Given the description of an element on the screen output the (x, y) to click on. 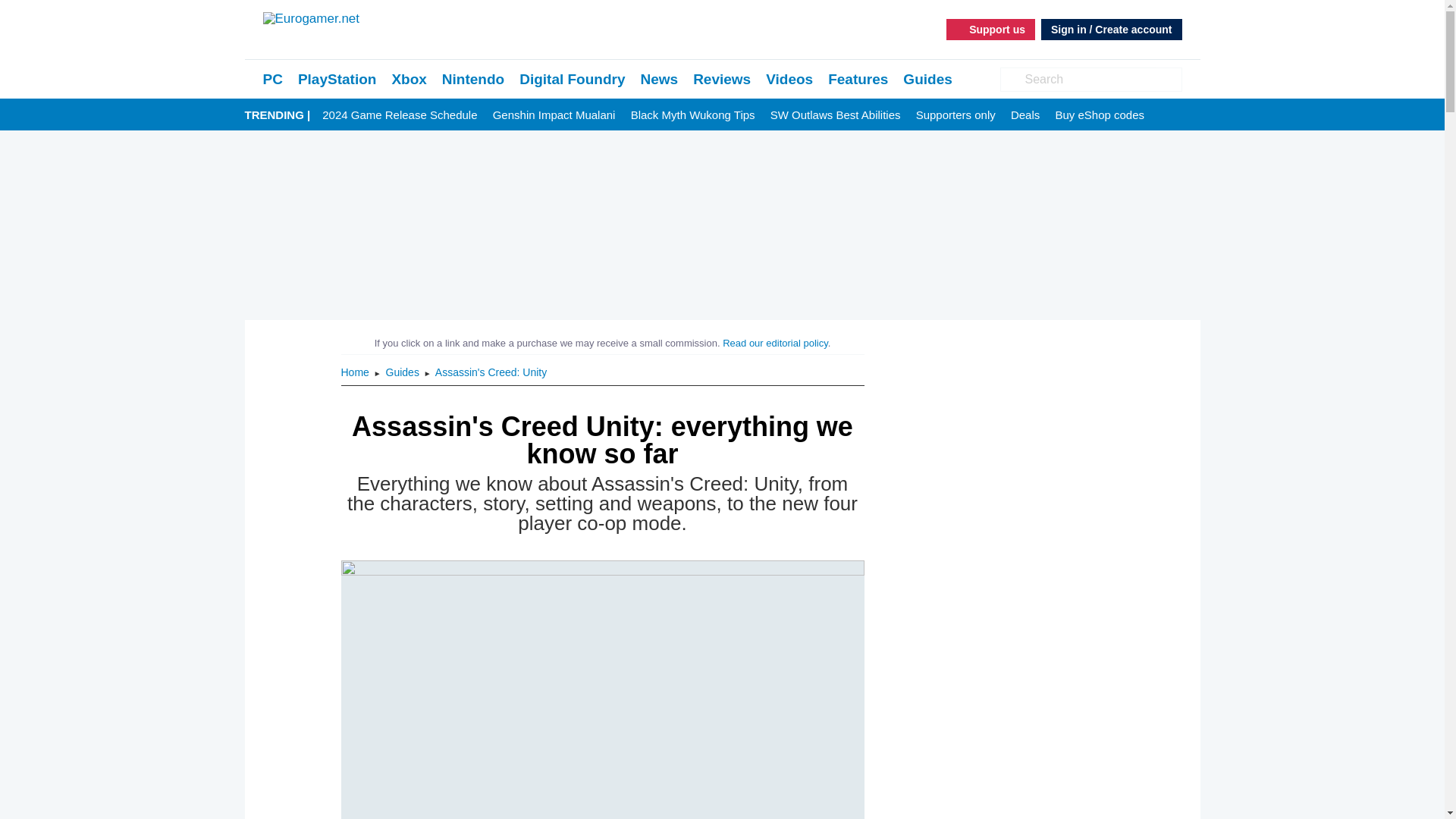
Features (858, 78)
Black Myth Wukong Tips (692, 114)
Features (858, 78)
SW Outlaws Best Abilities (835, 114)
News (659, 78)
2024 Game Release Schedule (399, 114)
SW Outlaws Best Abilities (835, 114)
Guides (403, 372)
Guides (403, 372)
Reviews (722, 78)
